Given the description of an element on the screen output the (x, y) to click on. 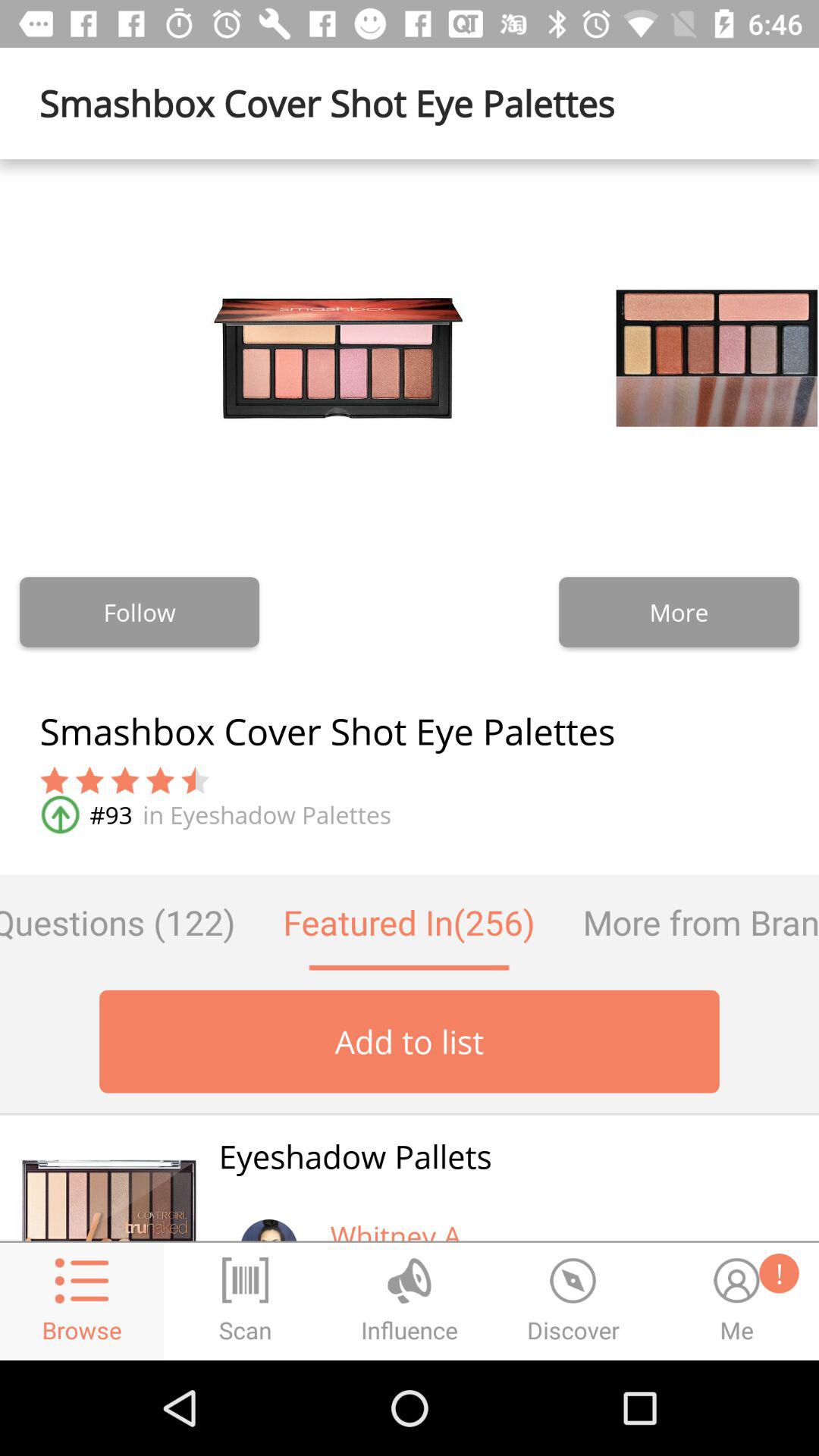
turn off the follow (139, 612)
